Given the description of an element on the screen output the (x, y) to click on. 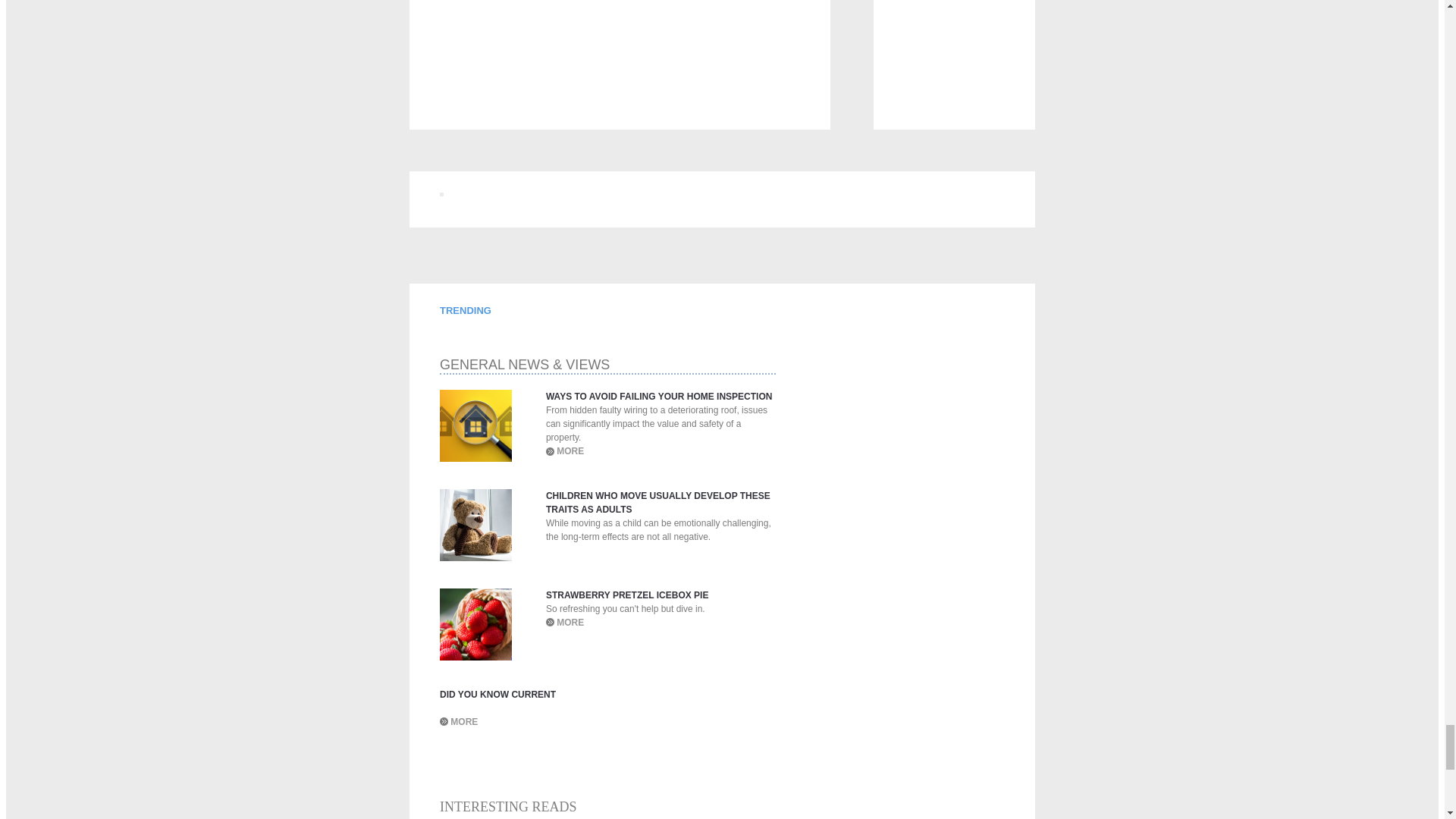
MORE (463, 721)
MORE (569, 450)
MORE (569, 622)
